Given the description of an element on the screen output the (x, y) to click on. 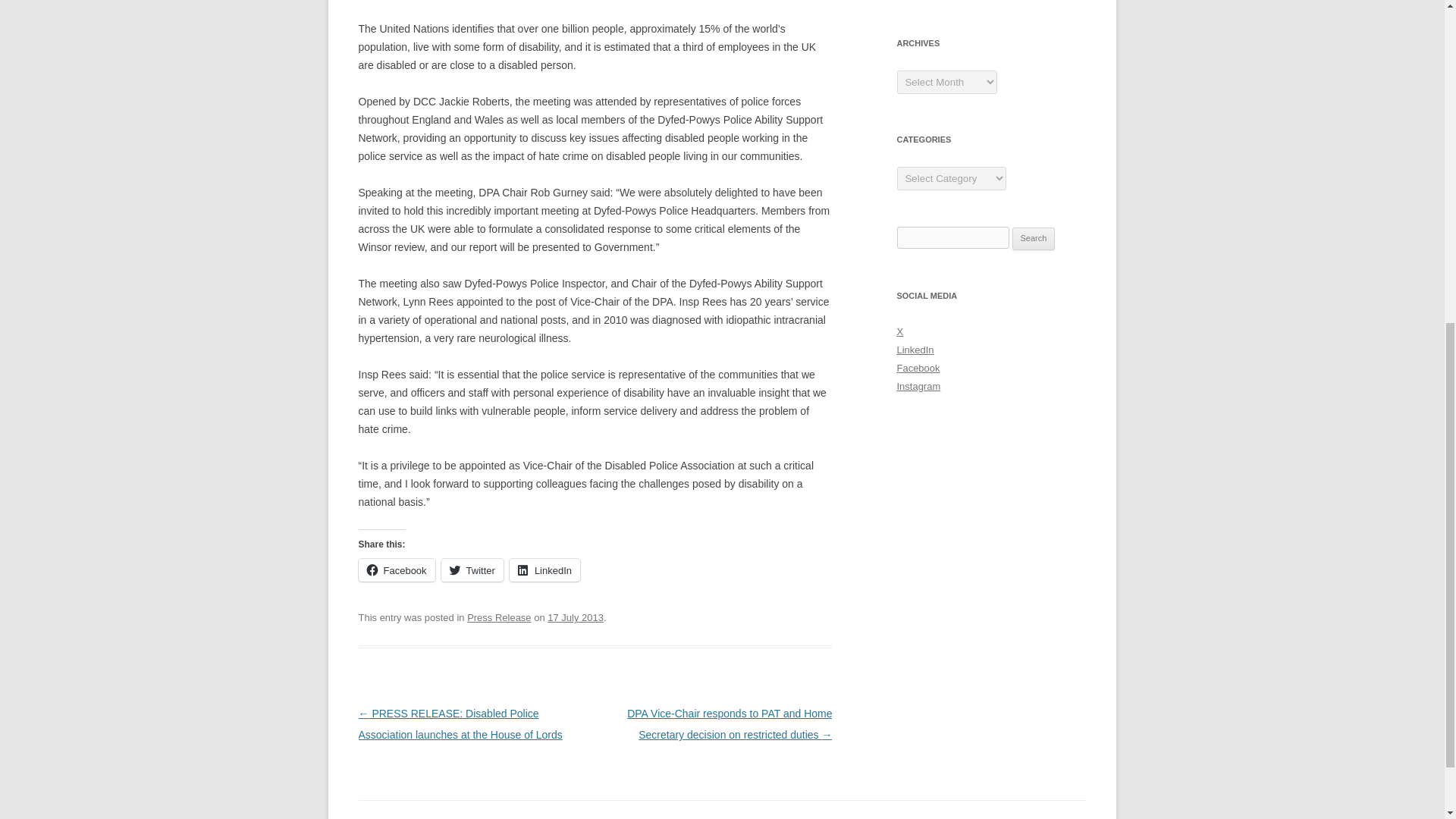
Search (1033, 238)
00:00 (575, 617)
Click to share on LinkedIn (544, 569)
Facebook (917, 367)
X (899, 331)
17 July 2013 (575, 617)
Twitter (472, 569)
Click to share on Facebook (395, 569)
Facebook (395, 569)
Press Release (499, 617)
LinkedIn (544, 569)
Search (1033, 238)
LinkedIn (914, 349)
Instagram (918, 386)
Click to share on Twitter (472, 569)
